Given the description of an element on the screen output the (x, y) to click on. 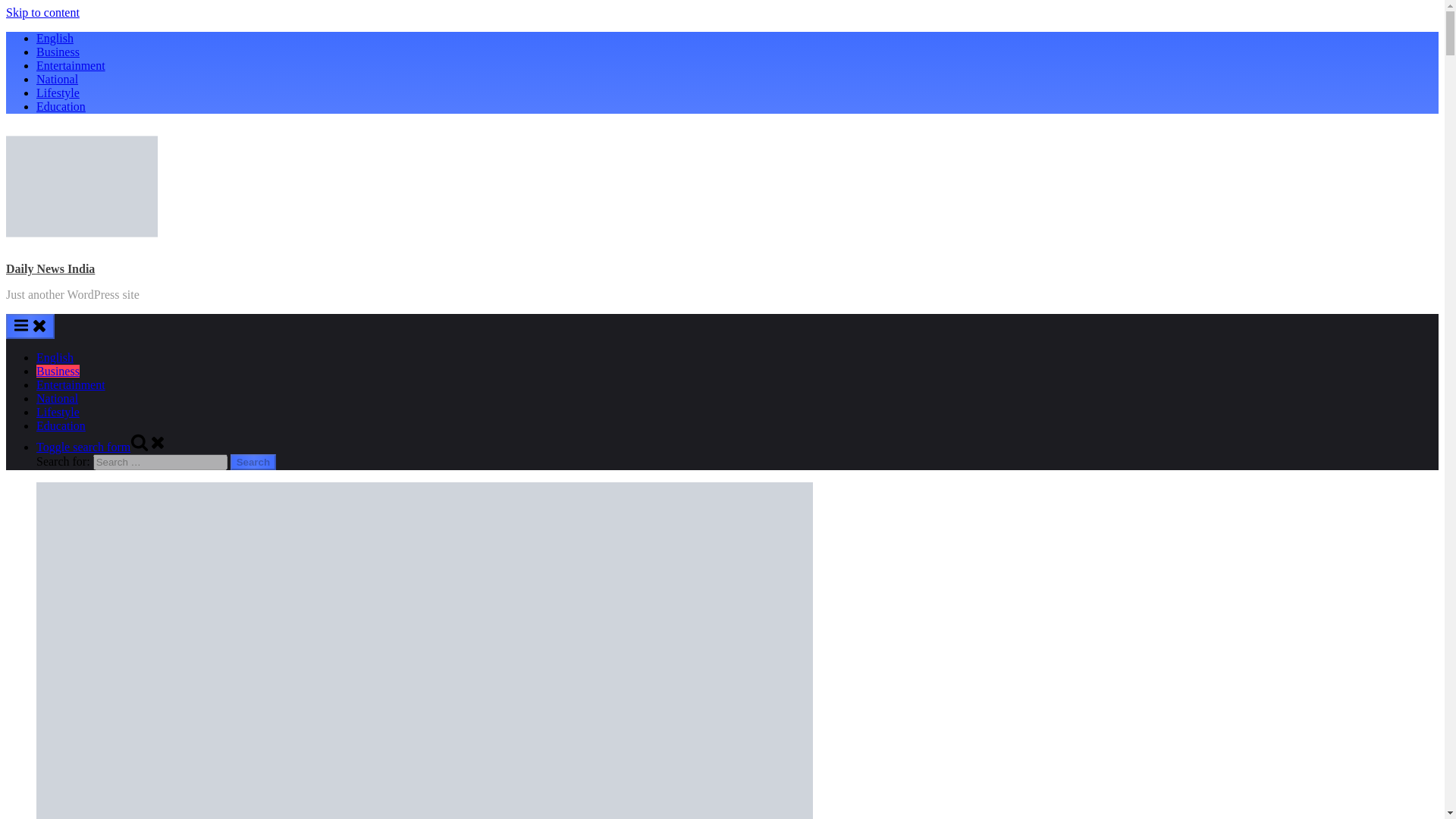
Lifestyle (58, 411)
Entertainment (70, 65)
Daily News India (49, 268)
Business (58, 370)
Search (253, 462)
English (55, 38)
Business (58, 51)
National (57, 78)
Education (60, 425)
Search (253, 462)
Entertainment (70, 384)
Toggle search form (101, 446)
English (55, 357)
Education (60, 106)
Lifestyle (58, 92)
